Given the description of an element on the screen output the (x, y) to click on. 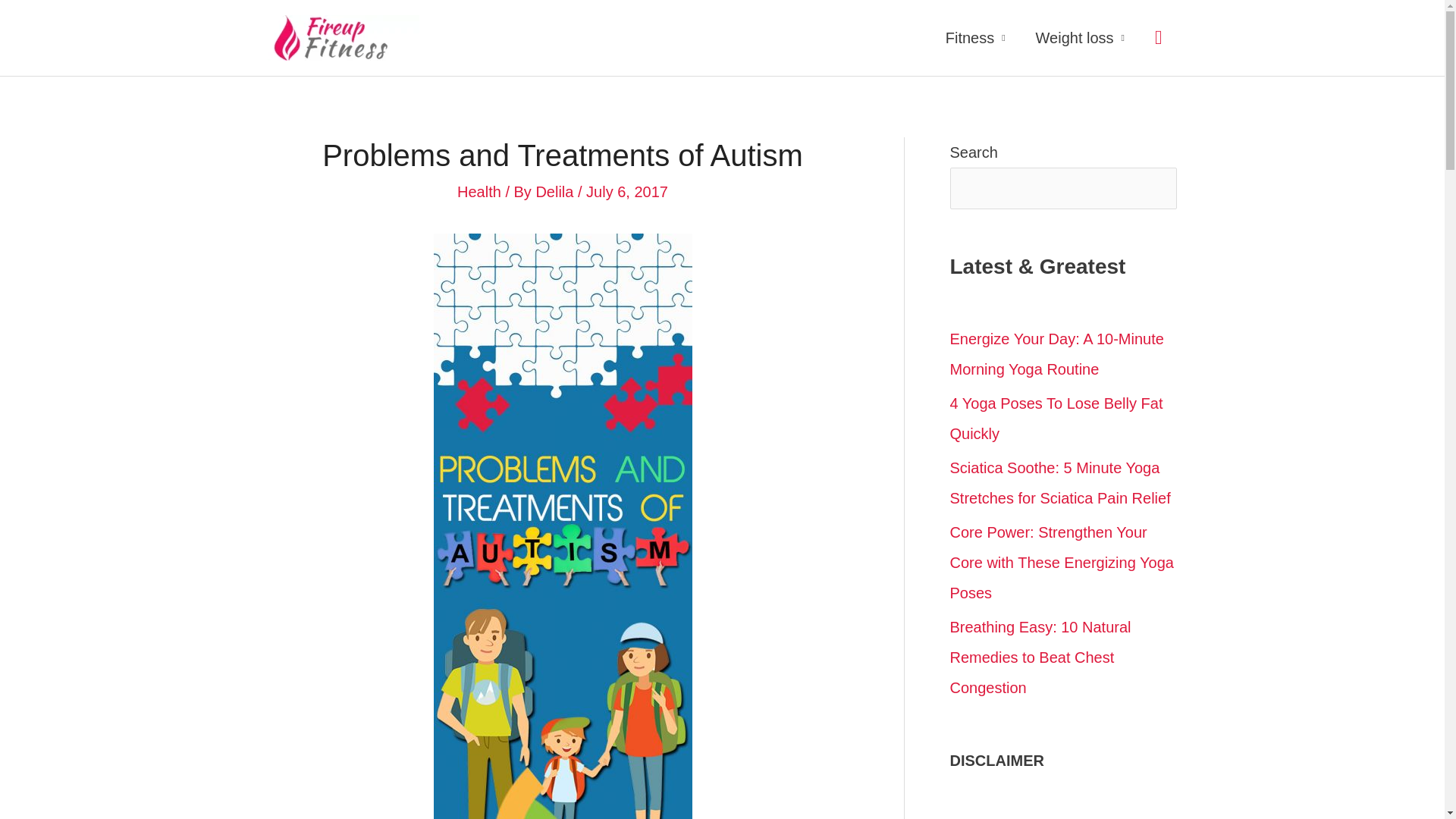
Health (478, 191)
Weight loss (1080, 38)
Fitness (975, 38)
Energize Your Day: A 10-Minute Morning Yoga Routine (1056, 353)
4 Yoga Poses To Lose Belly Fat Quickly (1055, 418)
Breathing Easy: 10 Natural Remedies to Beat Chest Congestion (1040, 657)
View all posts by Delila (556, 191)
Delila (556, 191)
